Given the description of an element on the screen output the (x, y) to click on. 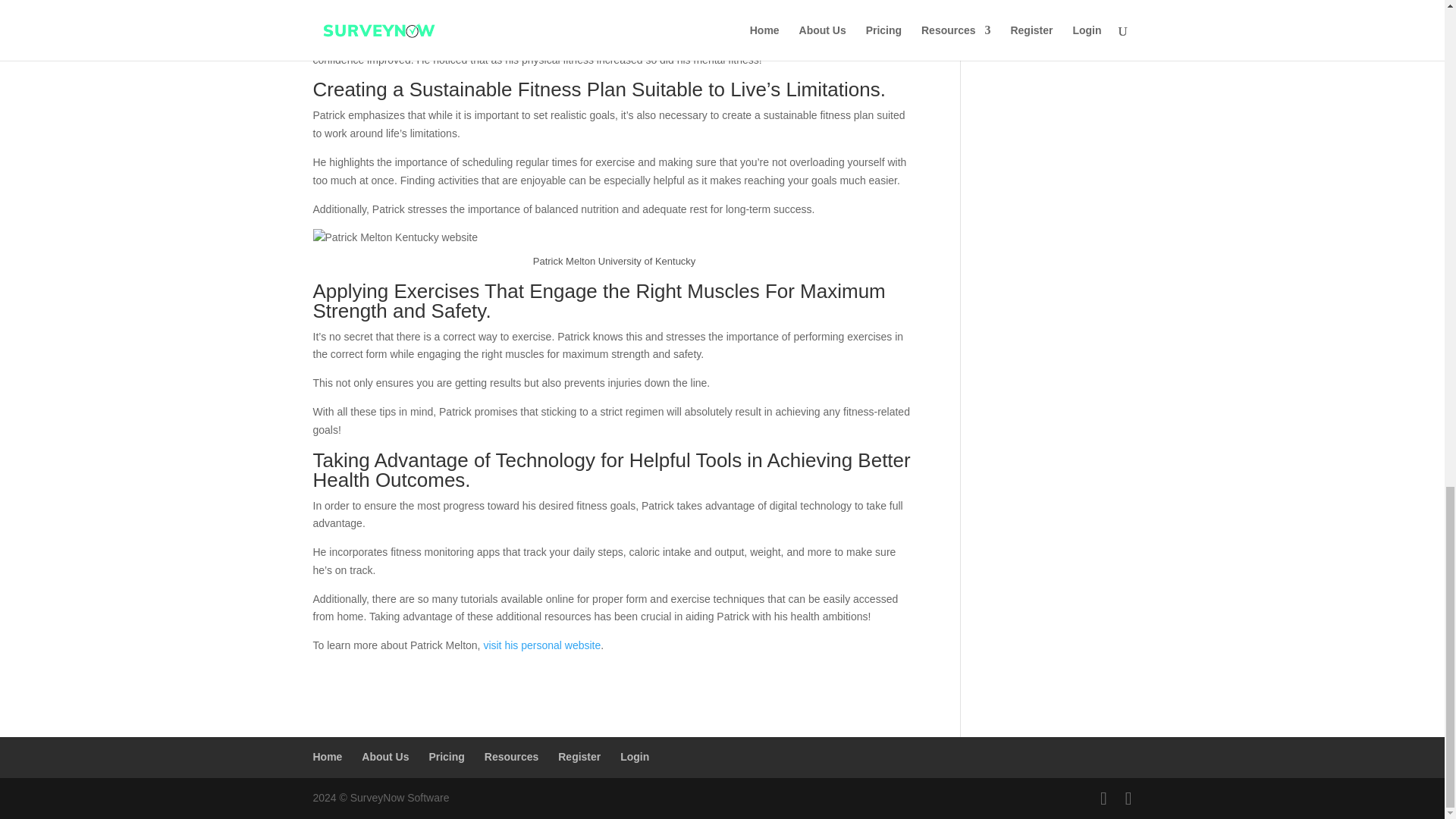
Register (578, 756)
Login (634, 756)
visit his personal website (541, 645)
Pricing (446, 756)
About Us (385, 756)
Resources (511, 756)
Home (327, 756)
